Given the description of an element on the screen output the (x, y) to click on. 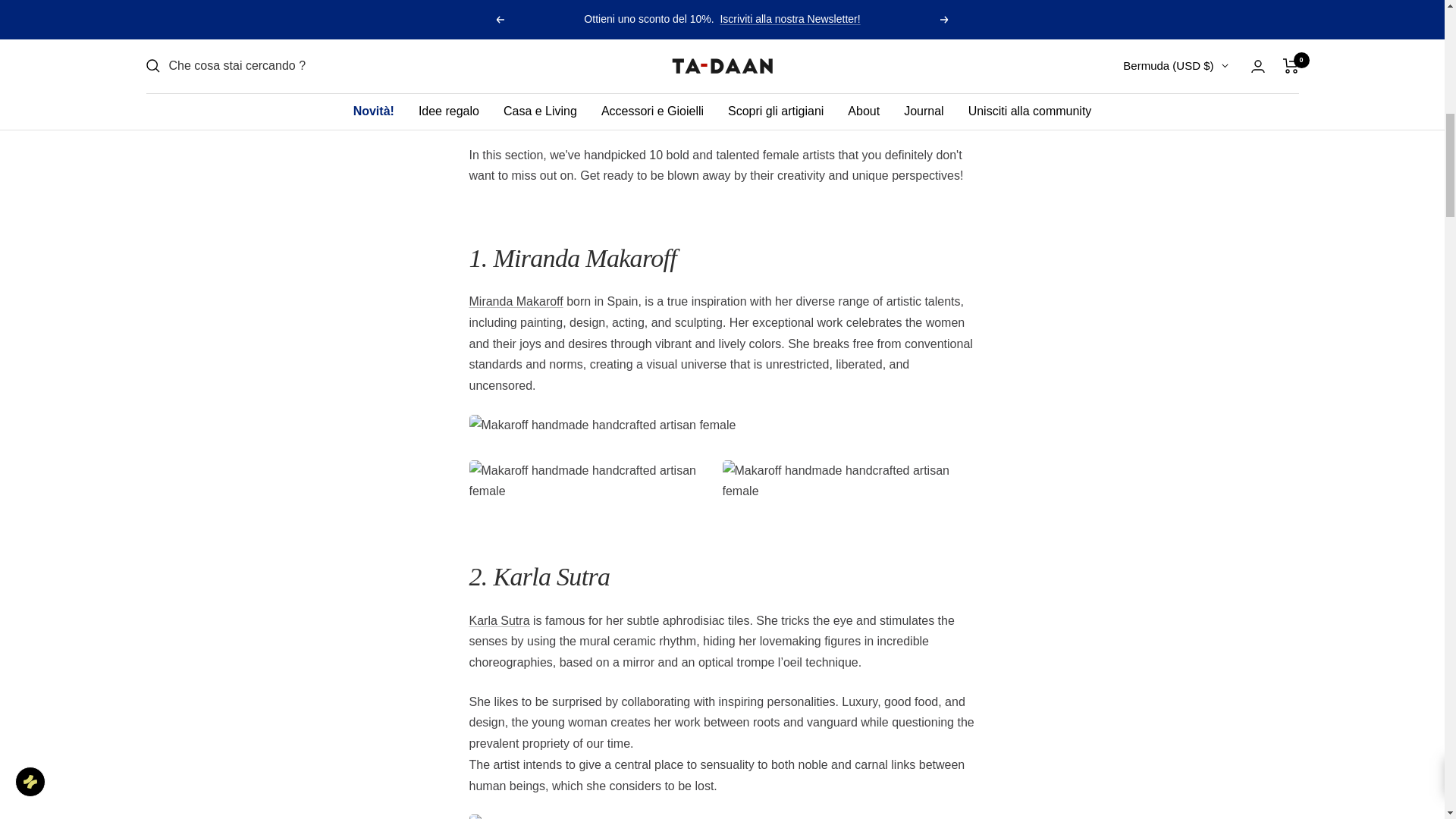
BR (1073, 37)
BN (1073, 64)
BW (1073, 11)
BG (1073, 89)
